Given the description of an element on the screen output the (x, y) to click on. 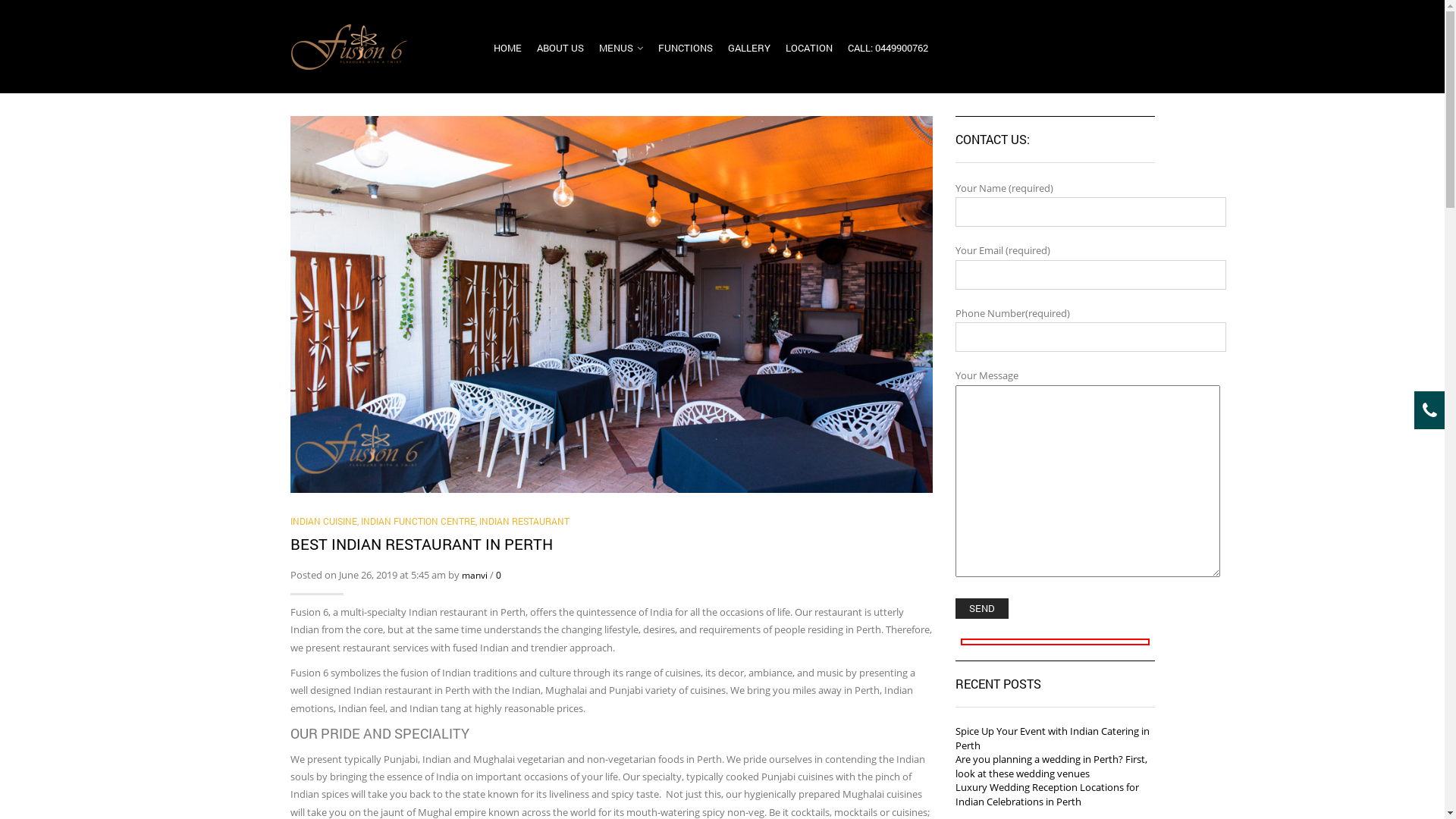
INDIAN RESTAURANT Element type: text (524, 520)
MENUS Element type: text (620, 51)
INDIAN CUISINE Element type: text (322, 520)
INDIAN FUNCTION CENTRE Element type: text (417, 520)
FUNCTIONS Element type: text (685, 51)
GALLERY Element type: text (749, 51)
0 Element type: text (498, 574)
manvi Element type: text (473, 574)
Send Element type: text (981, 608)
Spice Up Your Event with Indian Catering in Perth Element type: text (1052, 738)
LOCATION Element type: text (809, 51)
HOME Element type: text (507, 51)
CALL: 0449900762 Element type: text (887, 51)
ABOUT US Element type: text (560, 51)
